Given the description of an element on the screen output the (x, y) to click on. 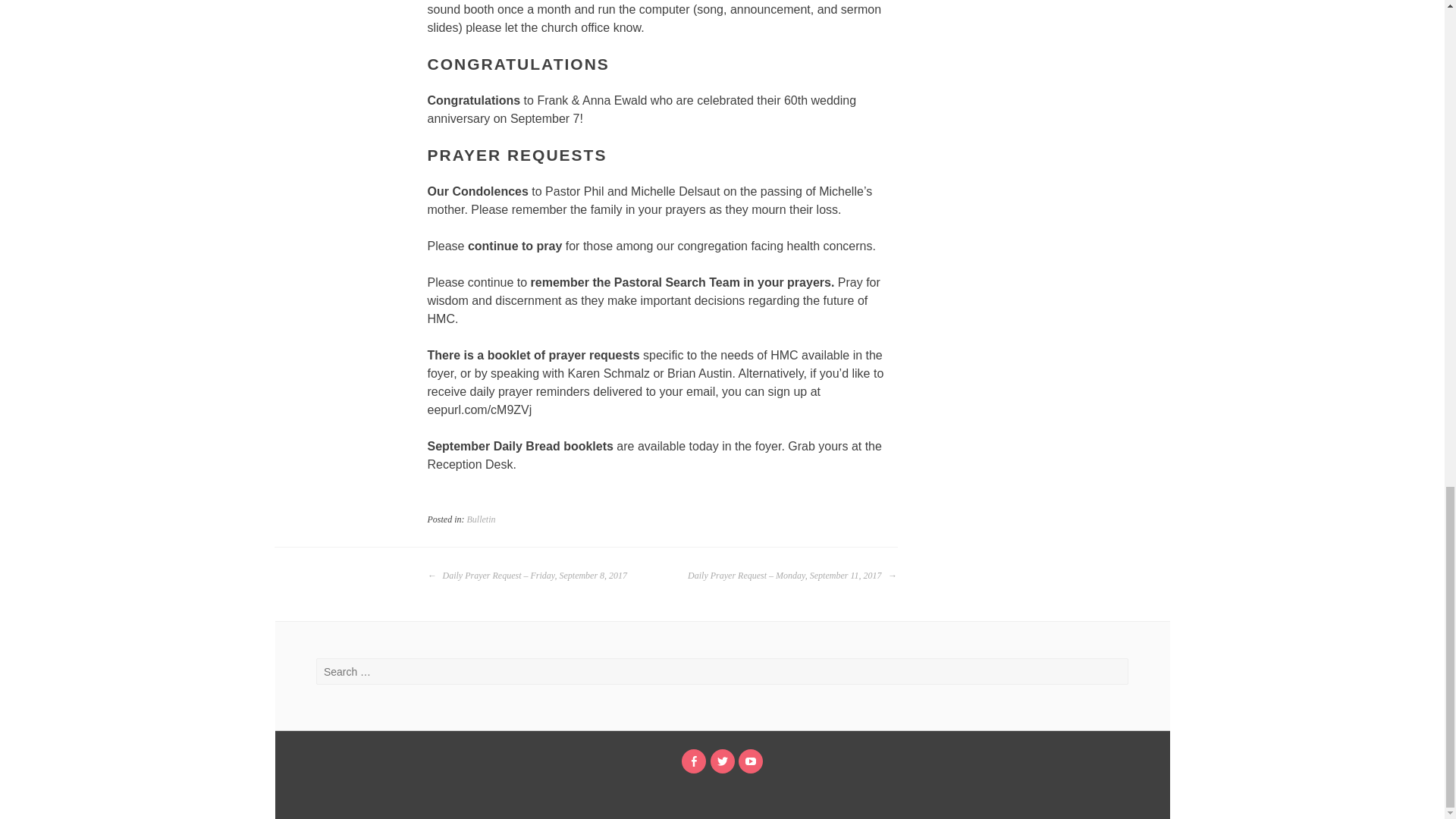
Bulletin (481, 519)
FACEBOOK (693, 761)
TWITTER (721, 761)
